Given the description of an element on the screen output the (x, y) to click on. 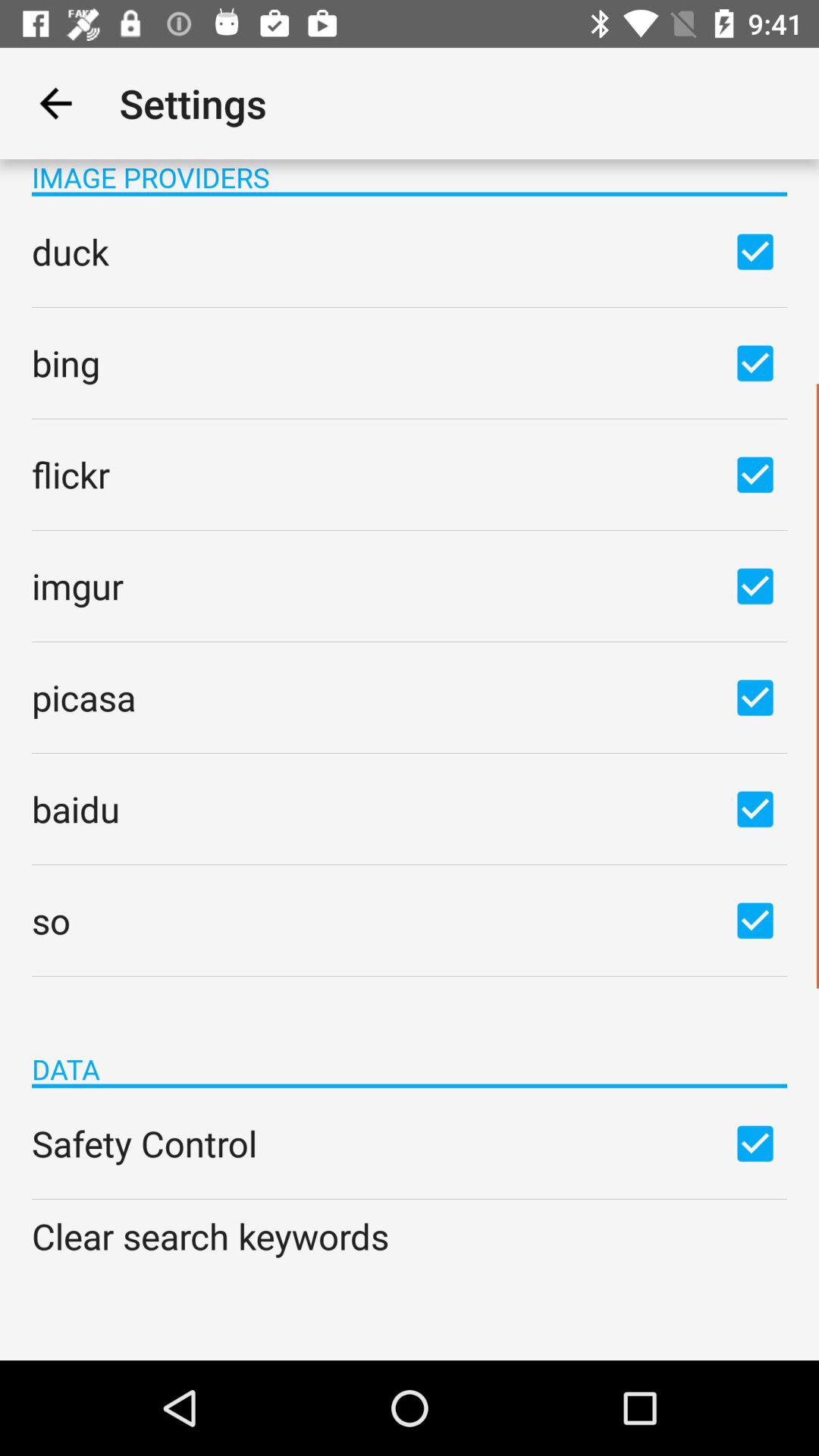
toggle imgur option (755, 585)
